Given the description of an element on the screen output the (x, y) to click on. 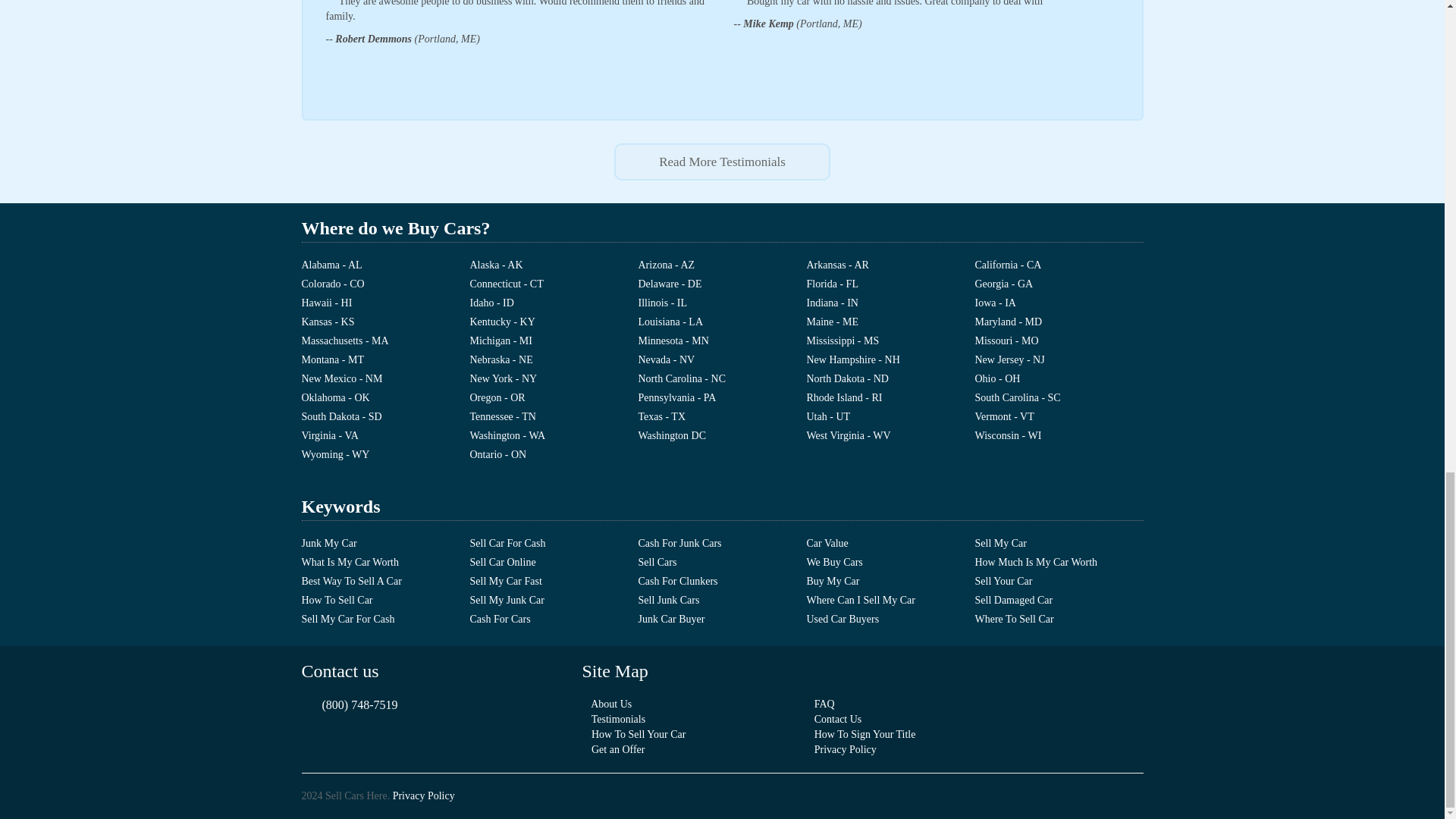
Louisiana - LA (722, 323)
Connecticut - CT (554, 285)
Illinois - IL (722, 304)
Arkansas - AR (890, 266)
Iowa - IA (1058, 304)
Maryland - MD (1058, 323)
